Given the description of an element on the screen output the (x, y) to click on. 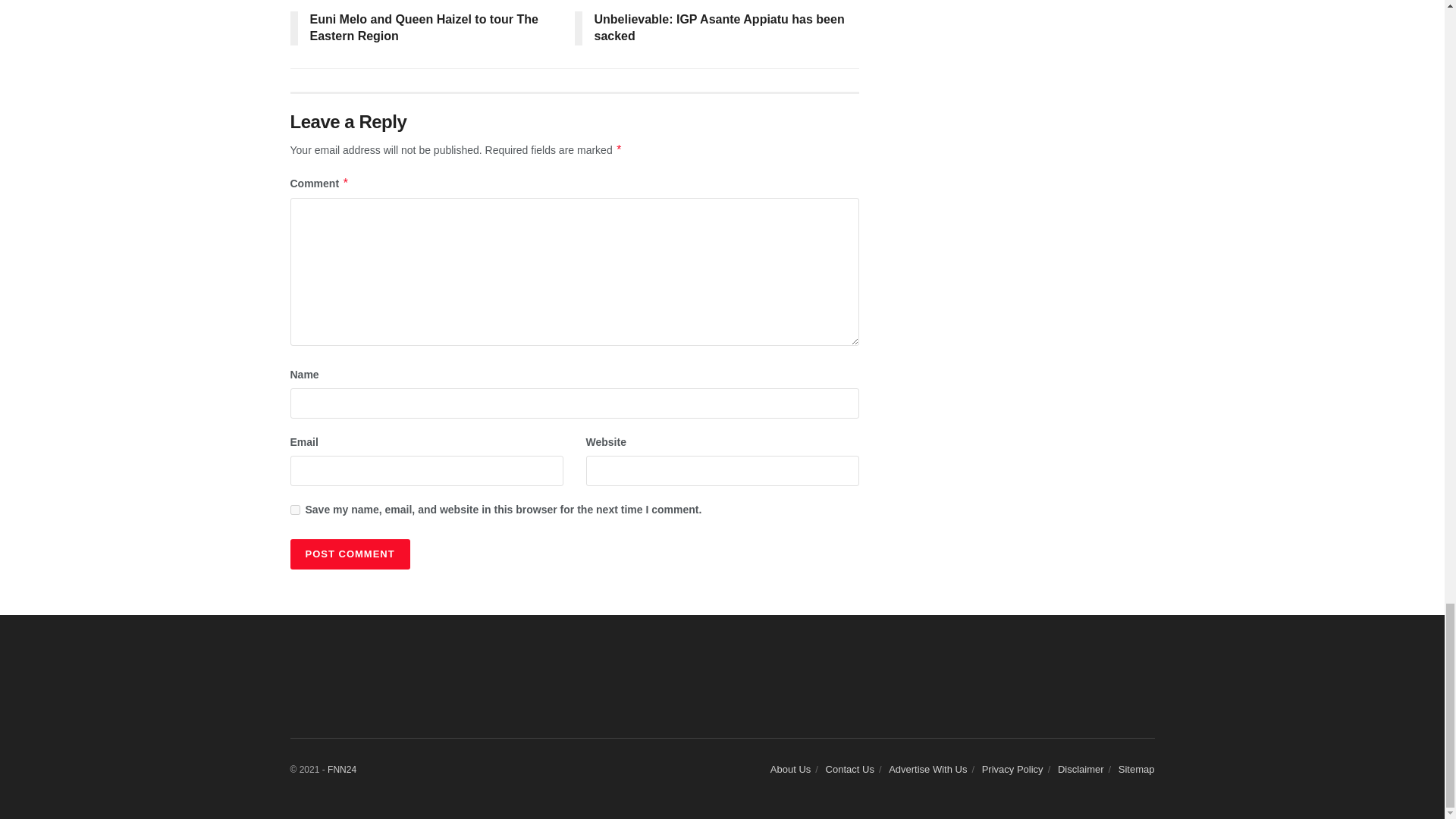
yes (294, 510)
Post Comment (349, 553)
